Given the description of an element on the screen output the (x, y) to click on. 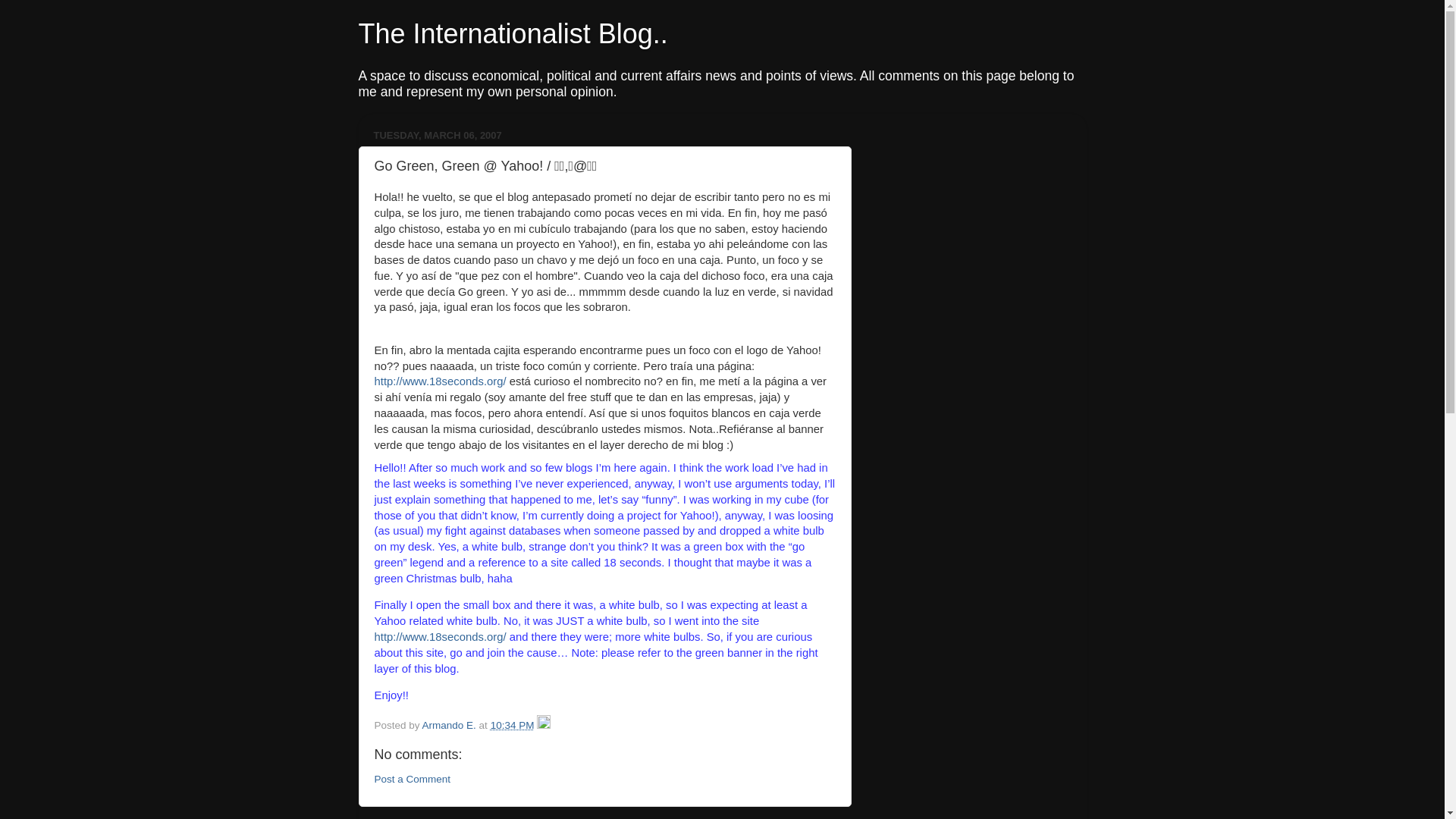
Armando E. Element type: text (450, 725)
Post a Comment Element type: text (412, 778)
The Internationalist Blog.. Element type: text (512, 33)
10:34 PM Element type: text (512, 725)
Edit Post Element type: hover (543, 725)
http://www.18seconds.org/ Element type: text (441, 636)
http://www.18seconds.org/ Element type: text (441, 381)
